Given the description of an element on the screen output the (x, y) to click on. 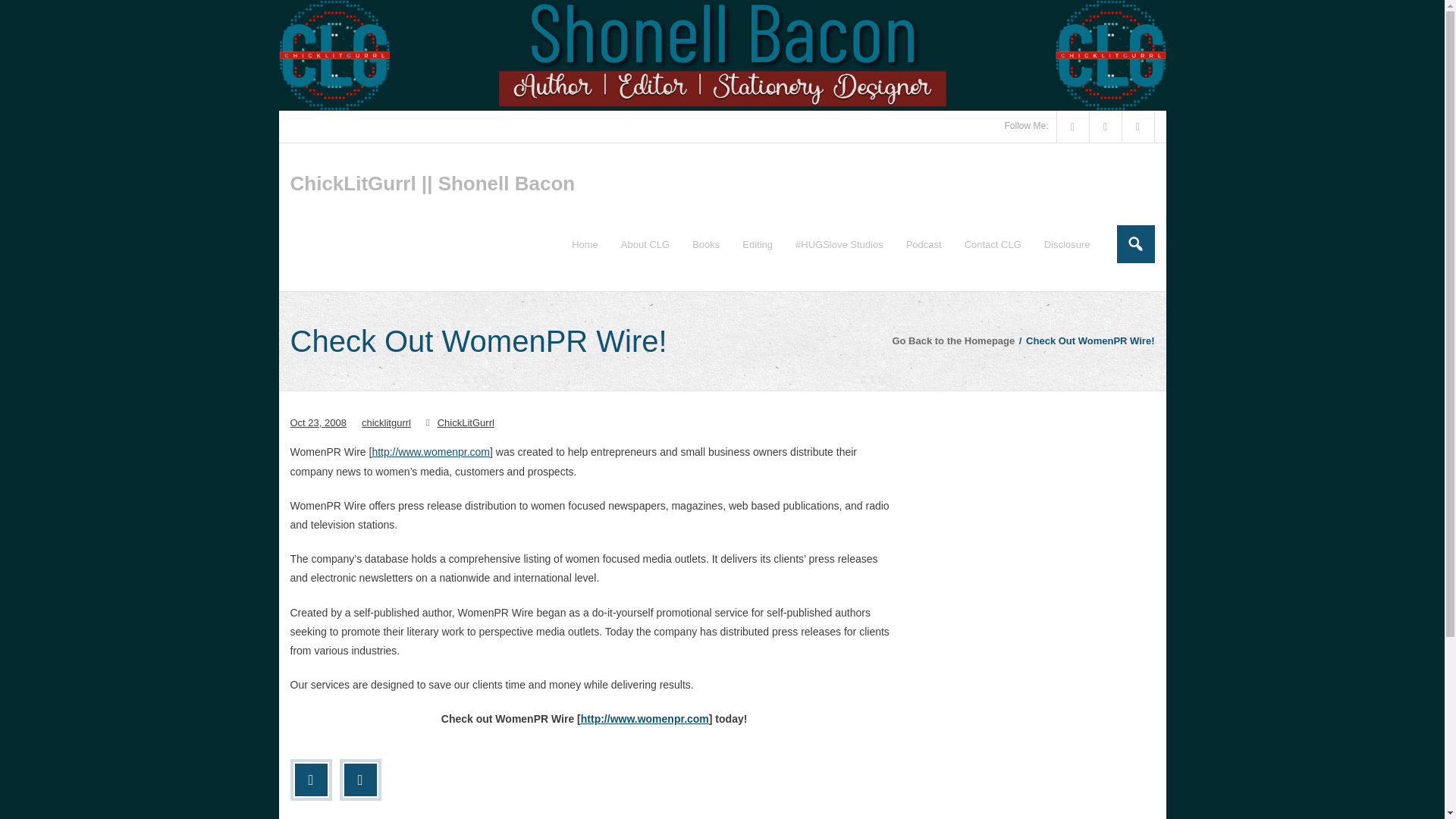
Check Out WomenPR Wire! (317, 422)
Search (27, 14)
View all posts by chicklitgurrl (385, 422)
Oct 23, 2008 (317, 422)
ChickLitGurrl (466, 422)
Go Back to the Homepage (952, 340)
chicklitgurrl (385, 422)
